Given the description of an element on the screen output the (x, y) to click on. 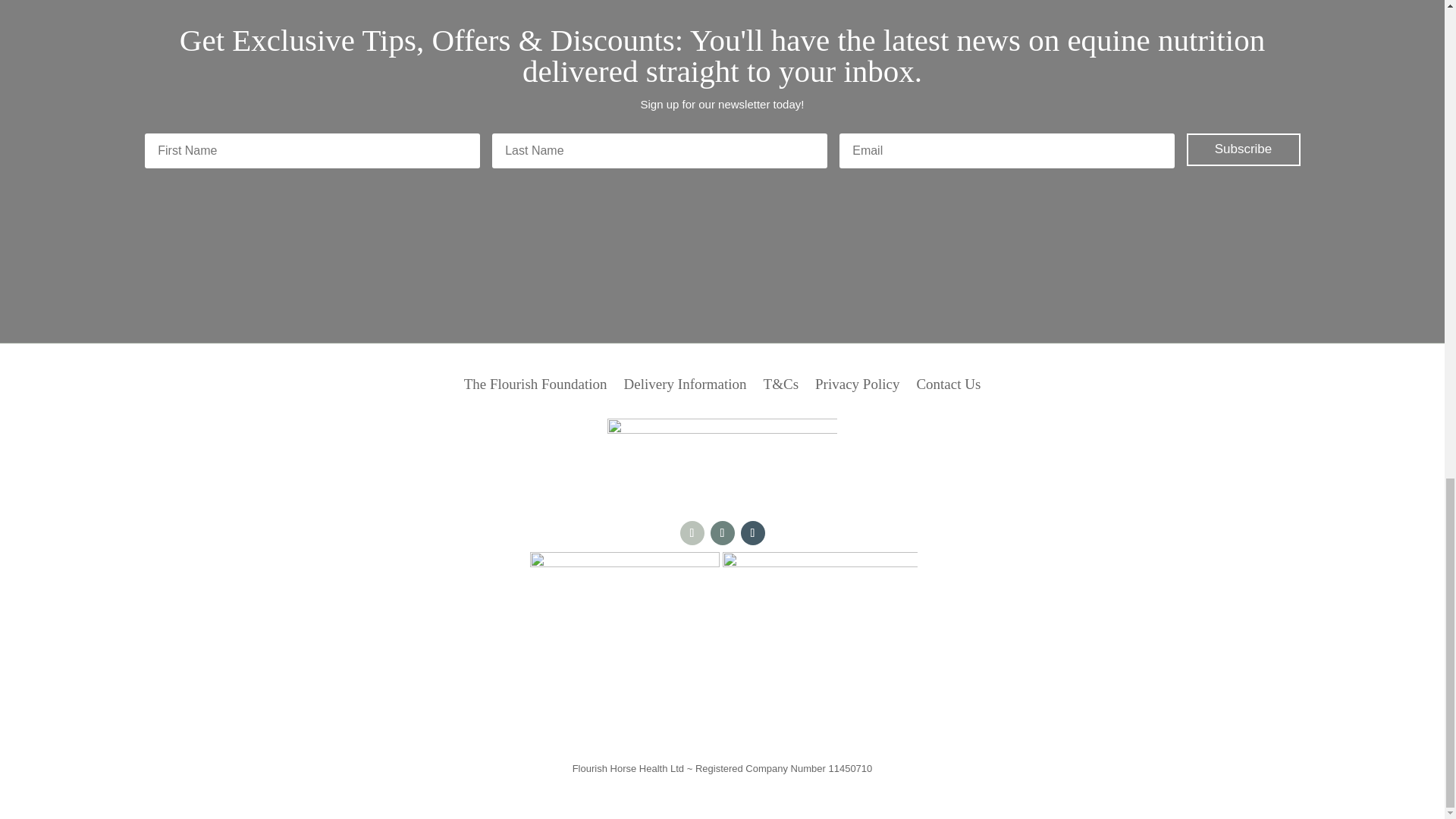
Delivery Information (685, 387)
Privacy Policy (857, 387)
Contact Us (947, 387)
Subscribe (1243, 149)
IEP (819, 652)
Follow on Instagram (721, 532)
Flourish-colour-logo (721, 457)
Follow on WhatsApp (751, 532)
Follow on Facebook (691, 532)
The Flourish Foundation (535, 387)
